Given the description of an element on the screen output the (x, y) to click on. 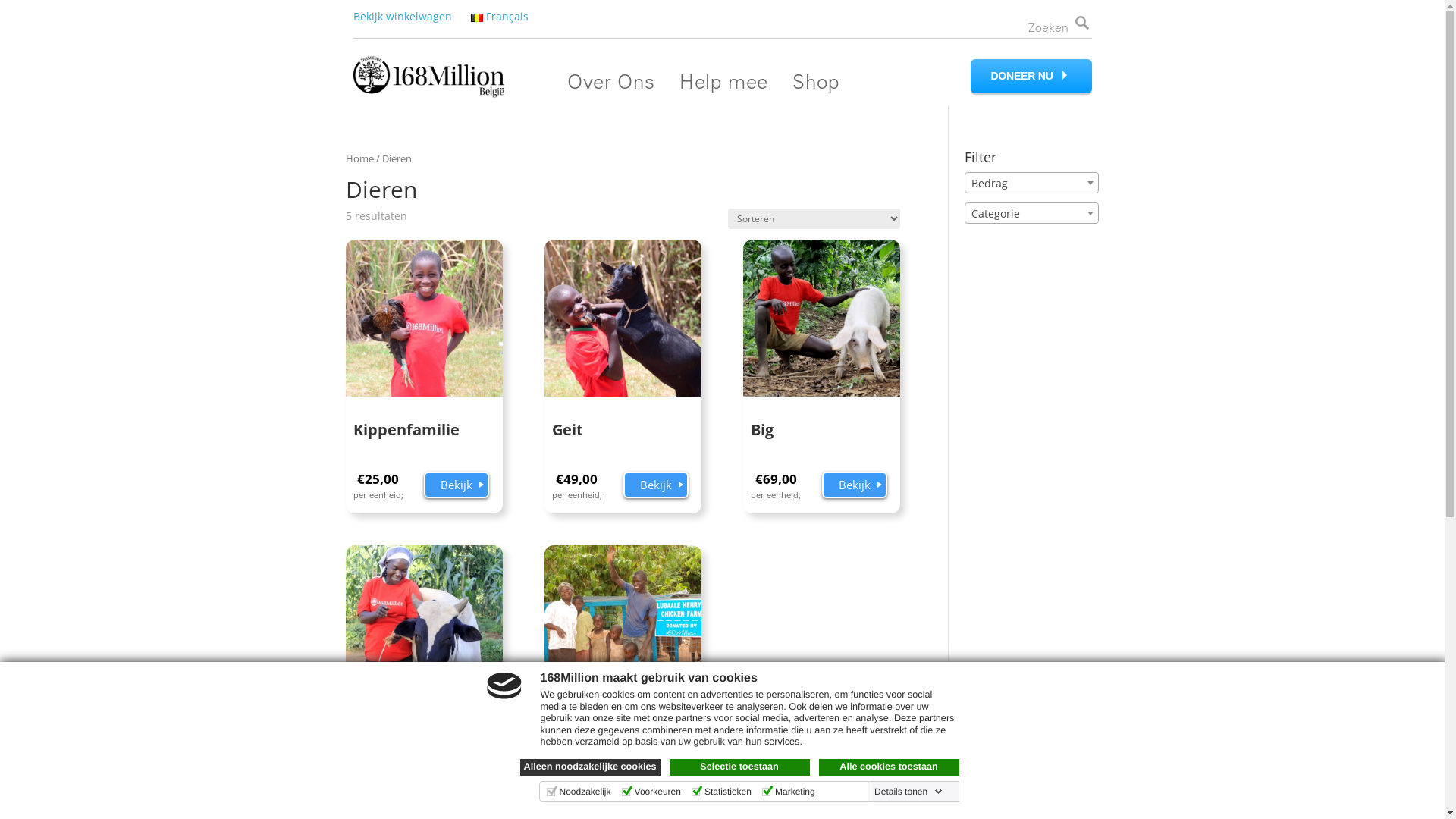
Bekijk Element type: text (854, 484)
DONEER NU Element type: text (1031, 76)
Bekijk winkelwagen Element type: text (402, 16)
Details tonen Element type: text (908, 791)
Koe Element type: text (423, 653)
Shop Element type: text (815, 80)
Bekijk Element type: text (456, 790)
Big Element type: text (821, 347)
Home Element type: text (359, 158)
Alle cookies toestaan Element type: text (889, 767)
Kippenhok met Kippenfamilie Element type: text (622, 672)
Help mee Element type: text (723, 80)
Alleen noodzakelijke cookies Element type: text (590, 767)
Kippenfamilie Element type: text (423, 347)
Geit Element type: text (622, 347)
Selectie toestaan Element type: text (738, 767)
Over Ons Element type: text (610, 80)
Bekijk Element type: text (655, 484)
Bekijk Element type: text (456, 484)
